Given the description of an element on the screen output the (x, y) to click on. 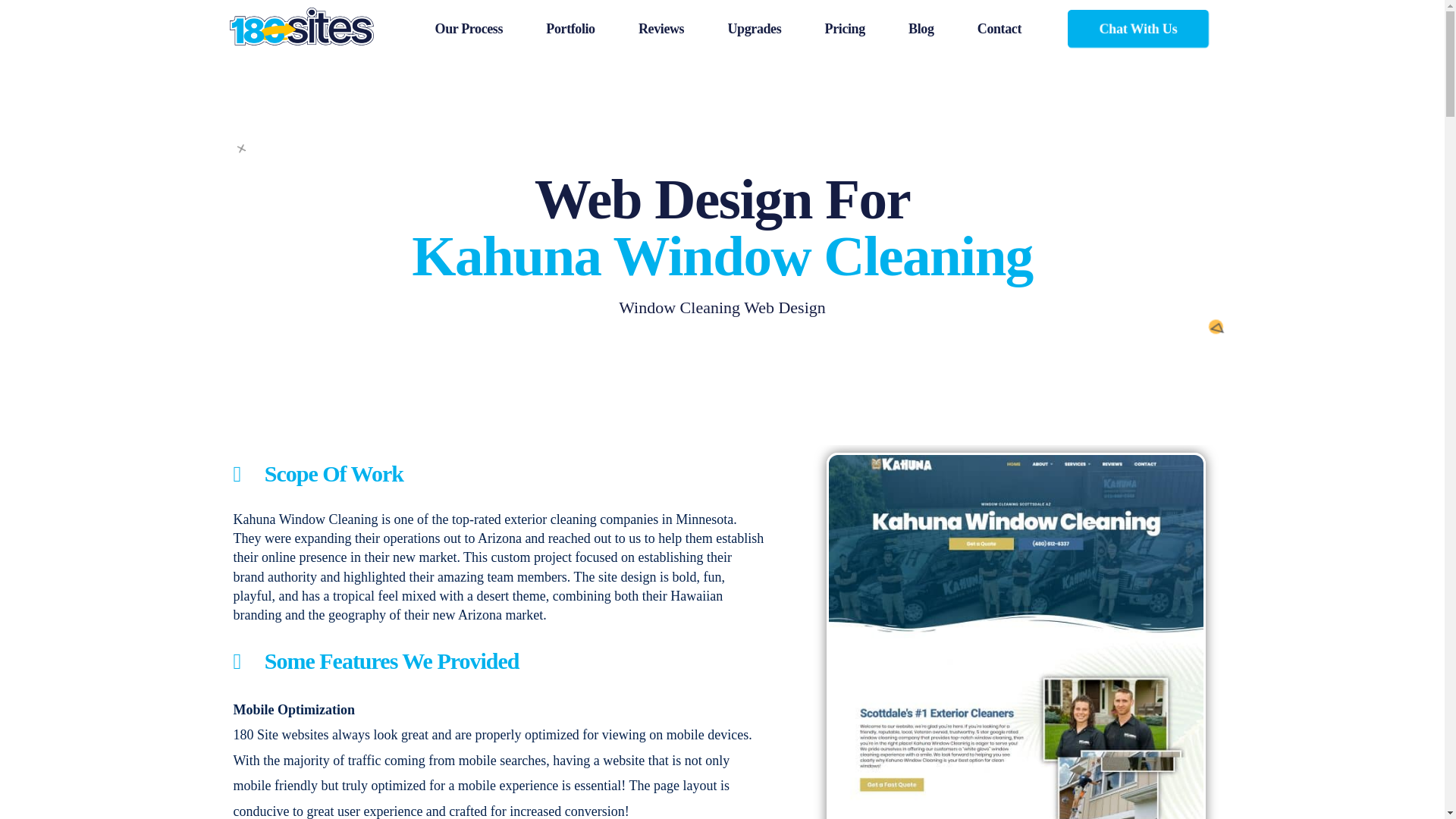
Pricing (844, 28)
Our Process (468, 28)
Portfolio (570, 28)
Blog (920, 28)
Reviews (659, 28)
Window Cleaning (328, 519)
Chat With Us (1137, 28)
Contact (998, 28)
Upgrades (754, 28)
